Given the description of an element on the screen output the (x, y) to click on. 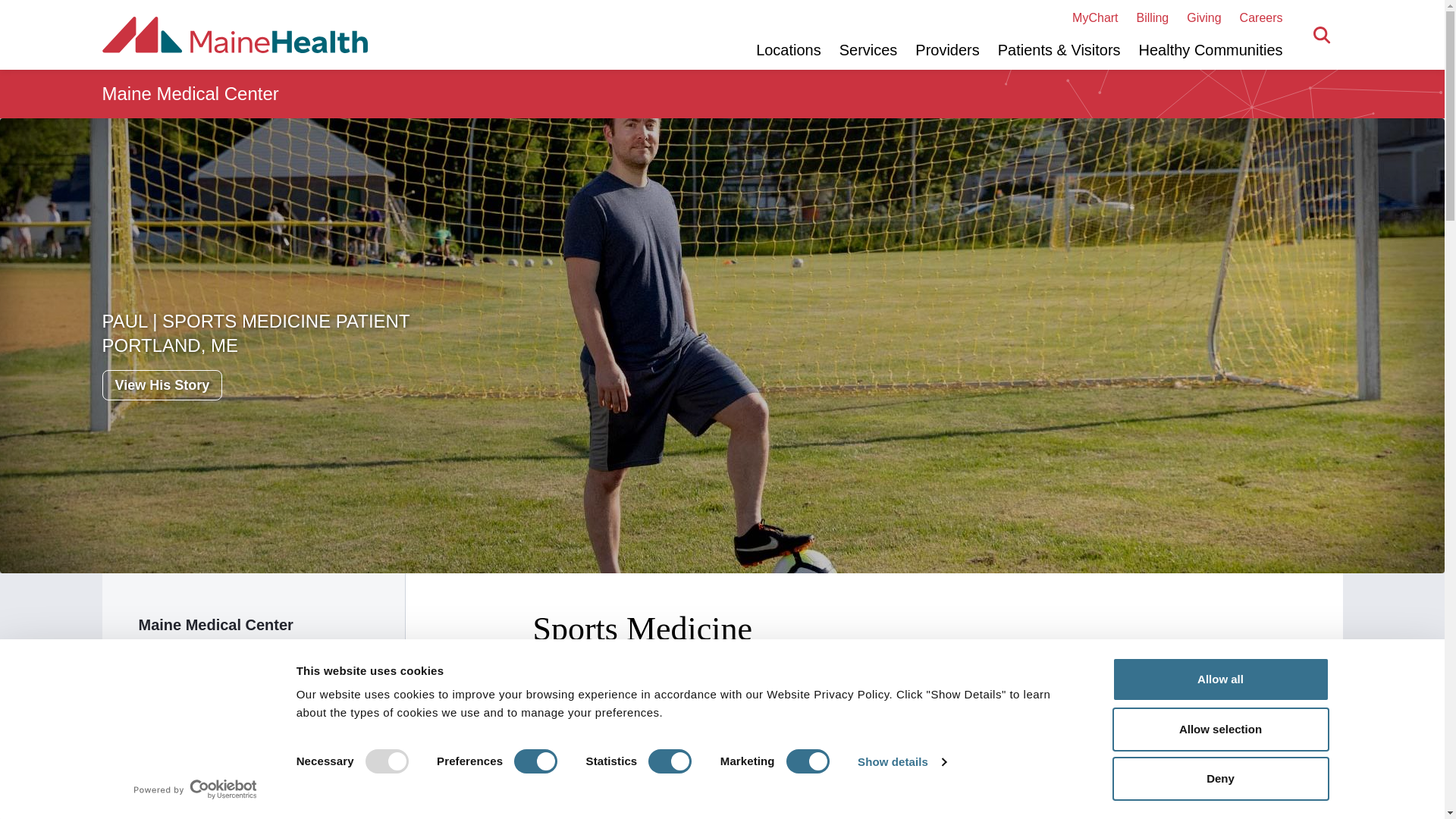
Show details (900, 762)
